Given the description of an element on the screen output the (x, y) to click on. 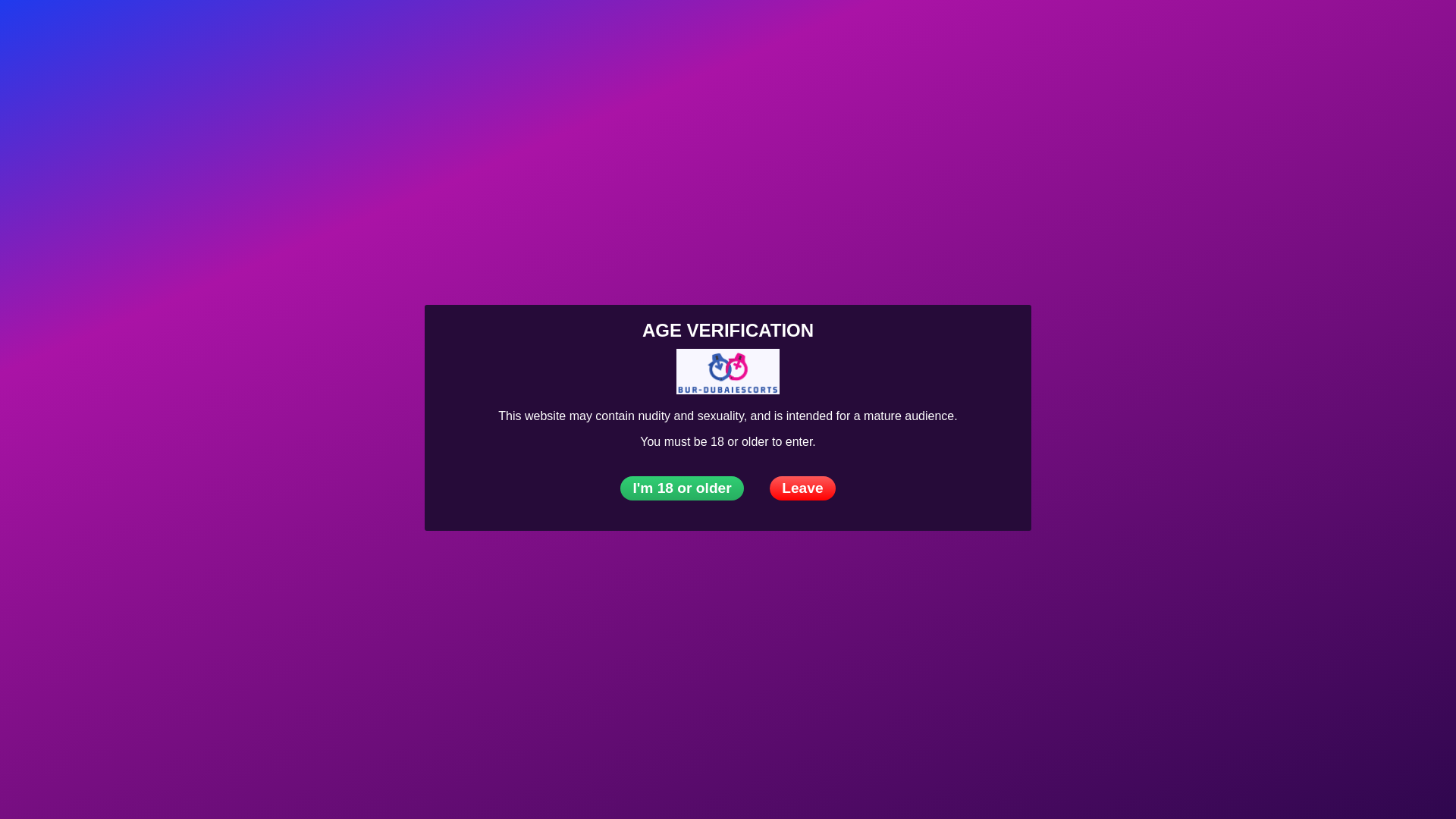
Home (152, 33)
Contact Us (1427, 31)
Classified Ads (590, 33)
Search (1395, 31)
Bur Dubai Escorts (152, 33)
Escorts on Tour (374, 33)
Escort Reviews (483, 33)
Agencies (280, 33)
Our Blog (677, 33)
Escorts (212, 33)
